Given the description of an element on the screen output the (x, y) to click on. 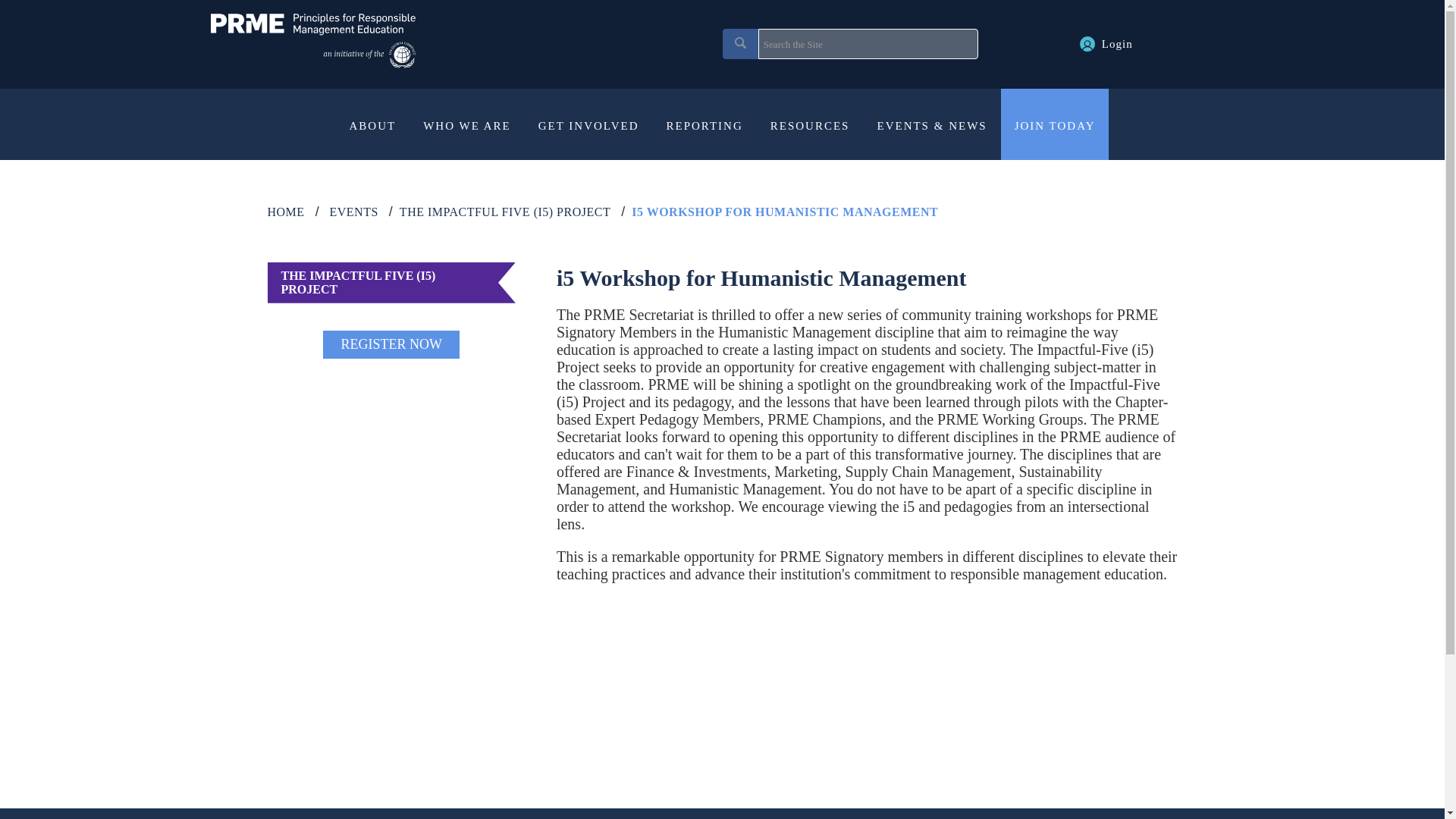
WHO WE ARE (466, 125)
ABOUT (373, 125)
REPORTING (703, 125)
GET INVOLVED (588, 125)
Login (1106, 43)
RESOURCES (810, 125)
